Given the description of an element on the screen output the (x, y) to click on. 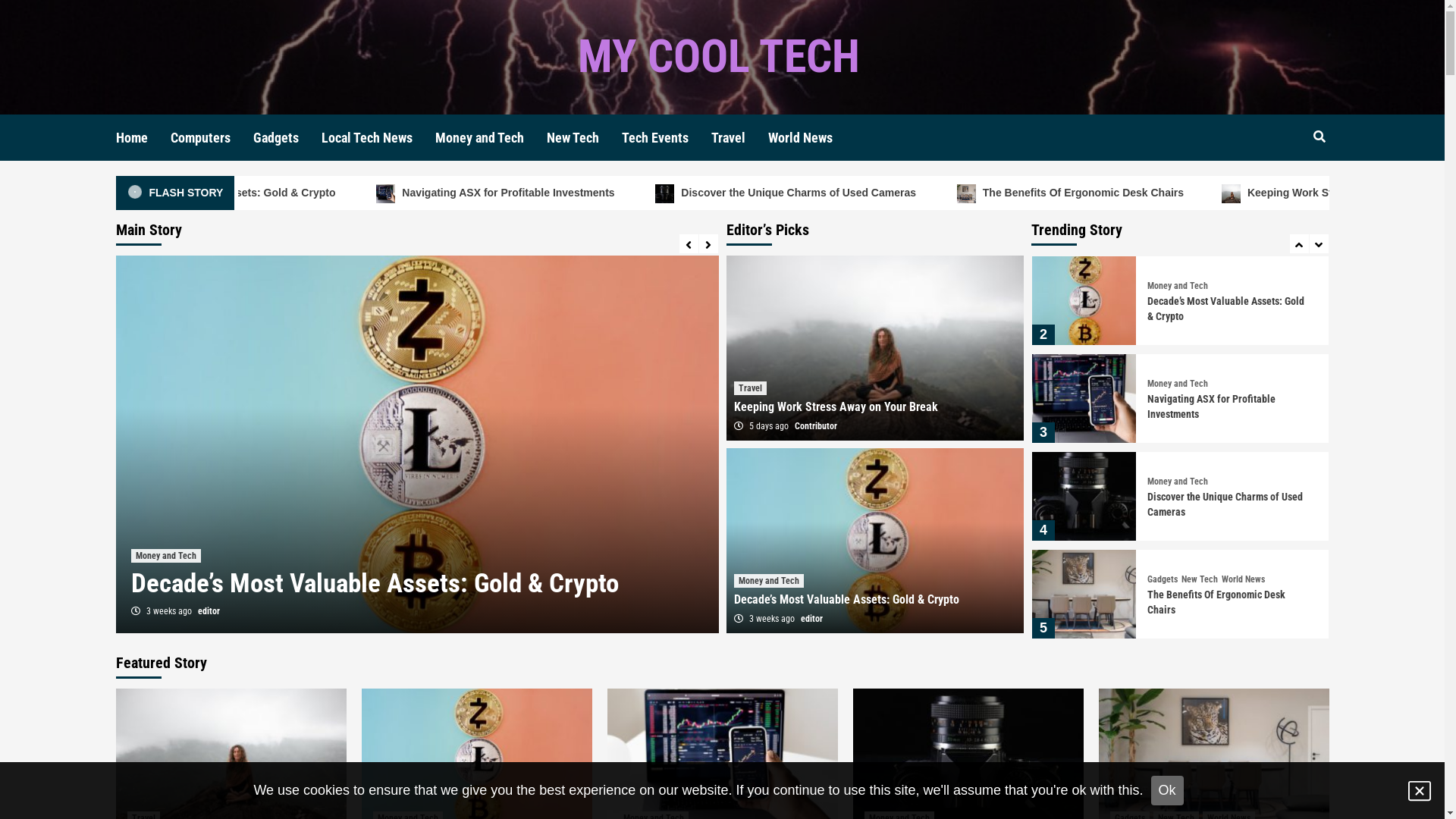
Travel Element type: text (1158, 285)
Discover the Unique Charms of Used Cameras Element type: text (1039, 192)
Search Element type: hover (1319, 136)
Keeping Work Stress Away on Your Break Element type: text (171, 192)
Contributor Element type: text (815, 425)
New Tech Element type: text (583, 137)
Keeping Work Stress Away on Your Break Element type: text (836, 406)
Contributor Element type: text (212, 610)
Navigating ASX for Profitable Investments Element type: text (750, 192)
Money and Tech Element type: text (490, 137)
Ok Element type: text (1167, 790)
Gadgets Element type: text (287, 137)
Money and Tech Element type: text (1177, 578)
Money and Tech Element type: text (1177, 383)
Computers Element type: text (210, 137)
World News Element type: text (810, 137)
Navigating ASX for Profitable Investments Element type: text (1211, 503)
Travel Element type: text (739, 137)
Tech Events Element type: text (666, 137)
editor Element type: text (811, 618)
The Benefits Of Ergonomic Desk Chairs Element type: text (1322, 192)
Travel Element type: text (750, 388)
Search Element type: text (1283, 186)
Travel Element type: text (146, 555)
Money and Tech Element type: text (768, 580)
Local Tech News Element type: text (378, 137)
Home Element type: text (142, 137)
Keeping Work Stress Away on Your Break Element type: text (1222, 308)
Keeping Work Stress Away on Your Break Element type: text (349, 582)
Money and Tech Element type: text (1177, 481)
MY COOL TECH Element type: text (718, 56)
Discover the Unique Charms of Used Cameras Element type: text (1224, 601)
